Given the description of an element on the screen output the (x, y) to click on. 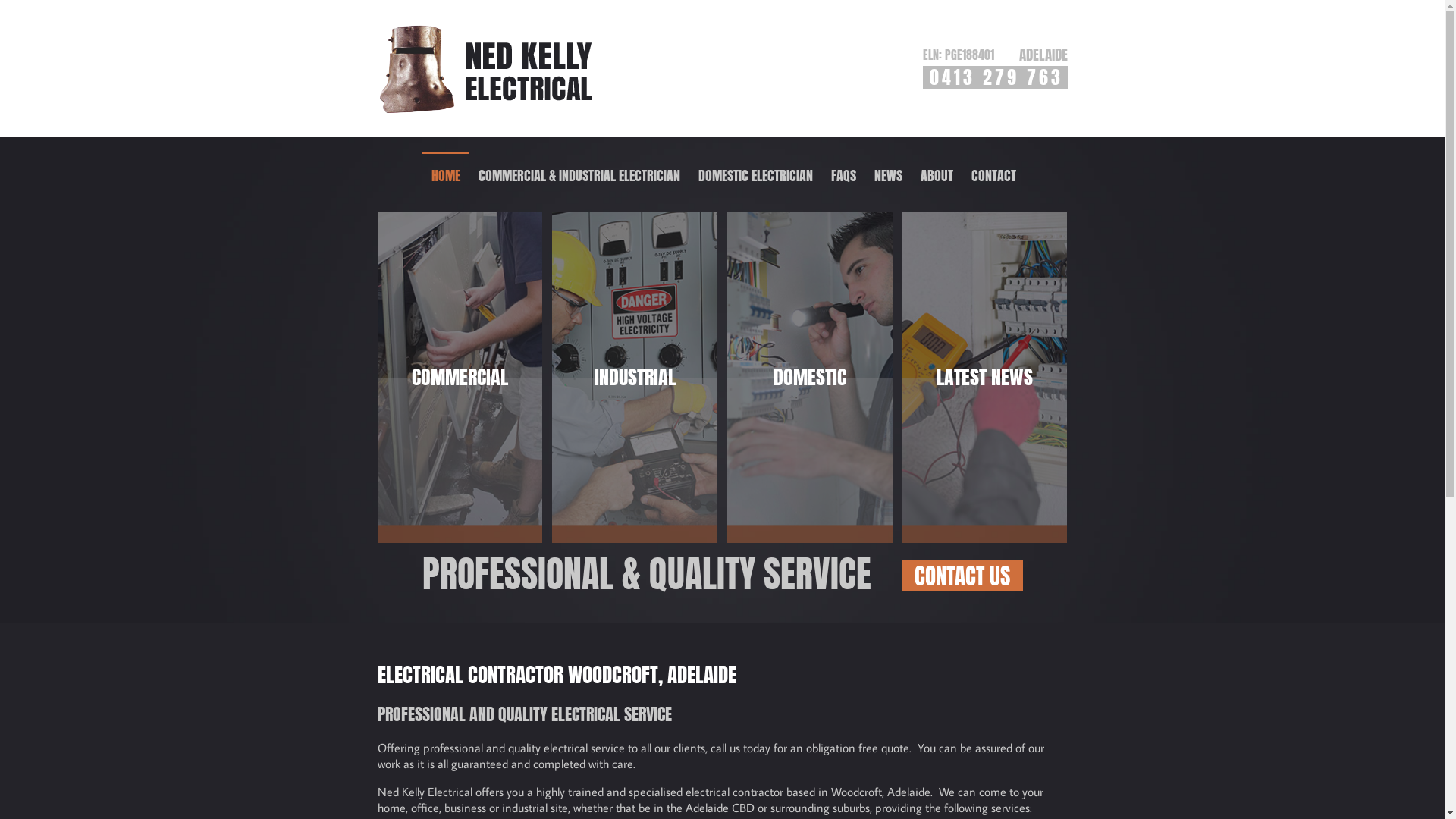
HOME Element type: text (445, 175)
INDUSTRIAL Element type: text (634, 377)
DOMESTIC Element type: text (809, 377)
COMMERCIAL & INDUSTRIAL ELECTRICIAN Element type: text (579, 174)
CONTACT Element type: text (993, 175)
DOMESTIC ELECTRICIAN Element type: text (755, 174)
CONTACT Element type: text (993, 174)
COMMERCIAL Element type: text (459, 377)
NEWS Element type: text (888, 175)
HOME Element type: text (445, 174)
ABOUT Element type: text (936, 174)
NEWS Element type: text (888, 174)
FAQS Element type: text (843, 174)
LATEST NEWS Element type: text (984, 377)
CONTACT US Element type: text (961, 575)
ABOUT Element type: text (936, 175)
DOMESTIC ELECTRICIAN Element type: text (755, 175)
FAQS Element type: text (843, 175)
Ned Kelly Electrical Element type: text (485, 68)
COMMERCIAL & INDUSTRIAL ELECTRICIAN Element type: text (579, 175)
